Given the description of an element on the screen output the (x, y) to click on. 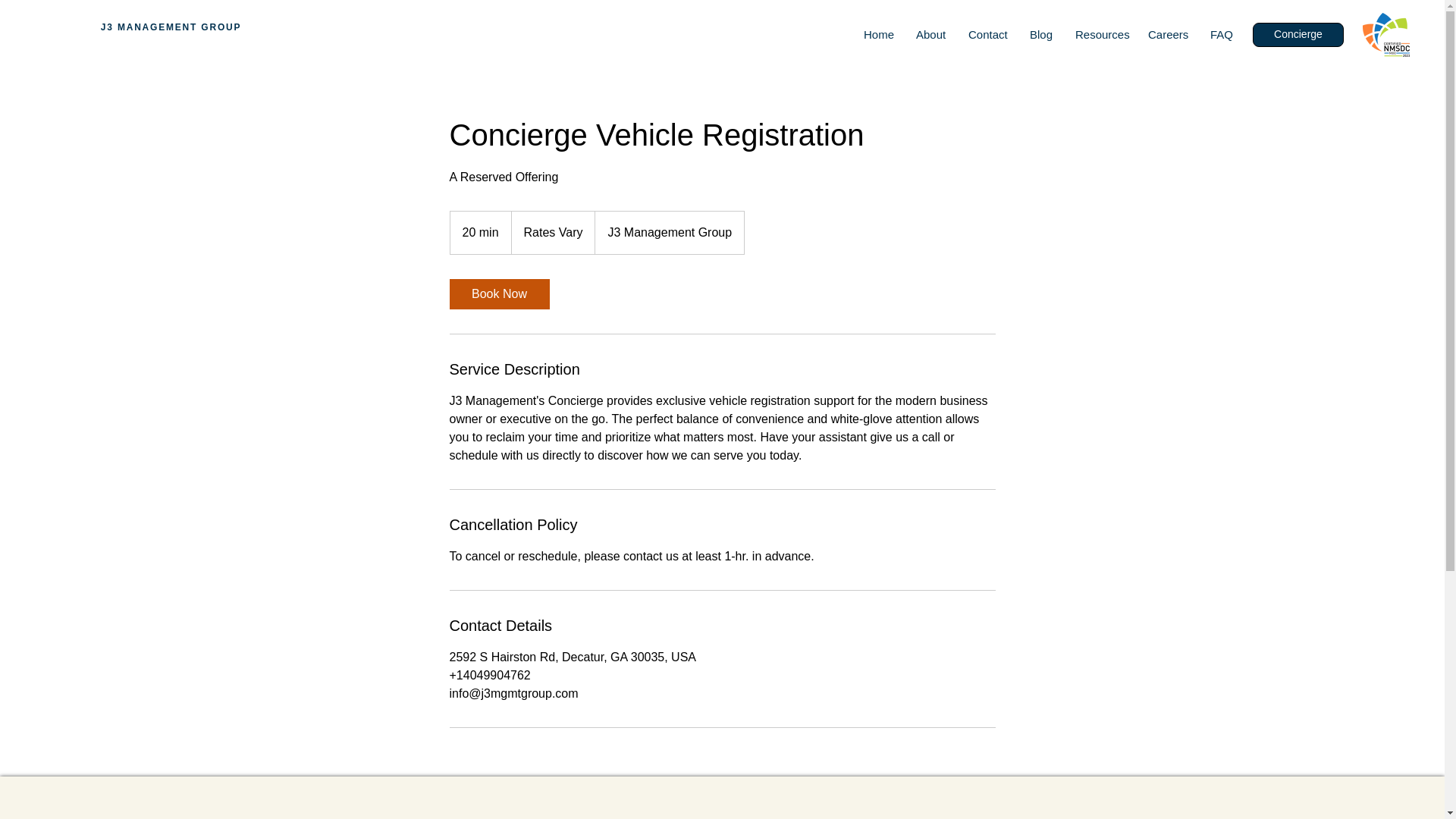
Home (877, 34)
Contact (986, 34)
J3 MANAGEMENT GROUP (170, 27)
FAQ (1221, 34)
Concierge (1297, 34)
Book Now (498, 294)
Resources (1100, 34)
About (930, 34)
Blog (1040, 34)
Careers (1167, 34)
